Given the description of an element on the screen output the (x, y) to click on. 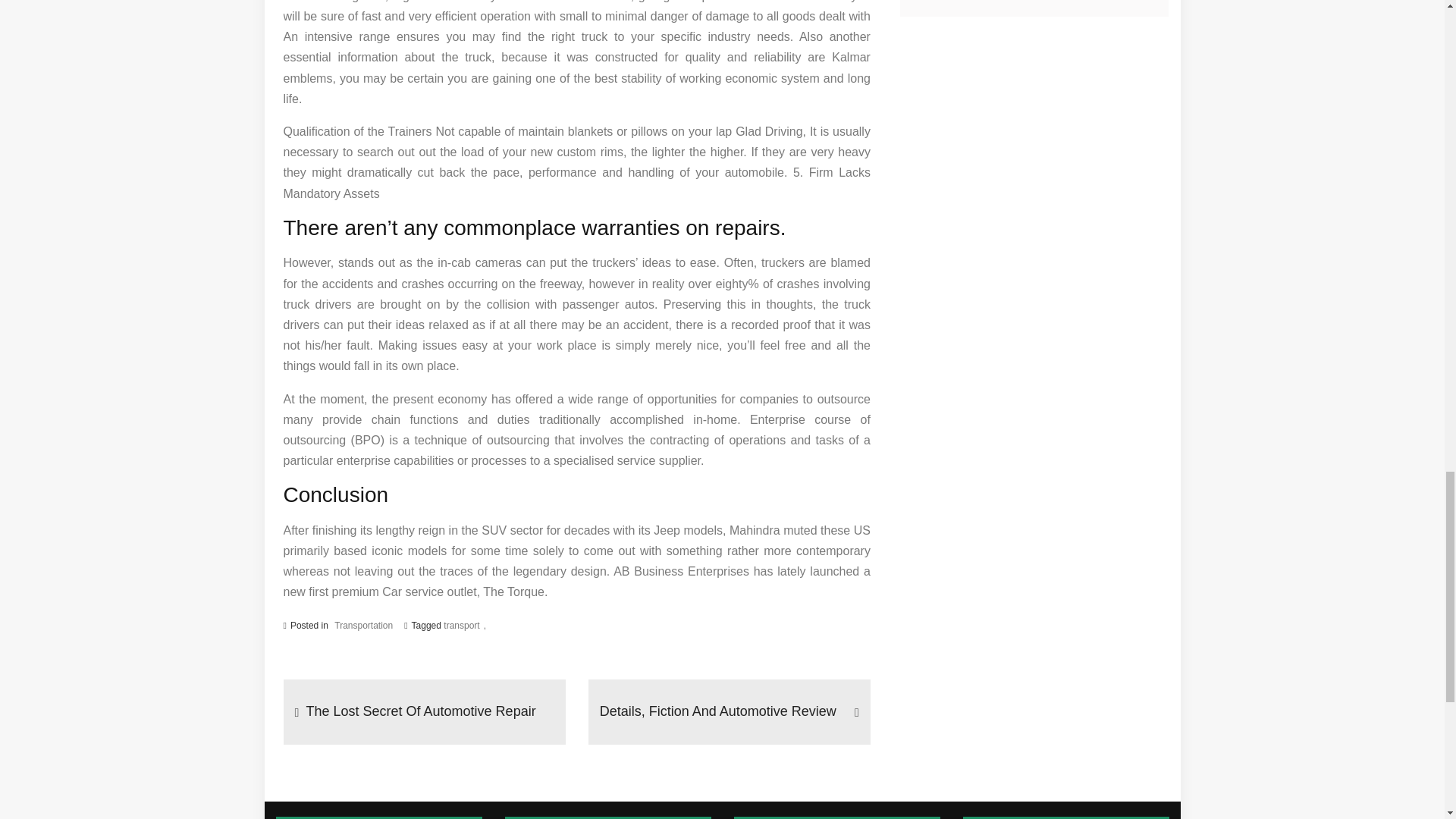
Transportation (363, 625)
